Given the description of an element on the screen output the (x, y) to click on. 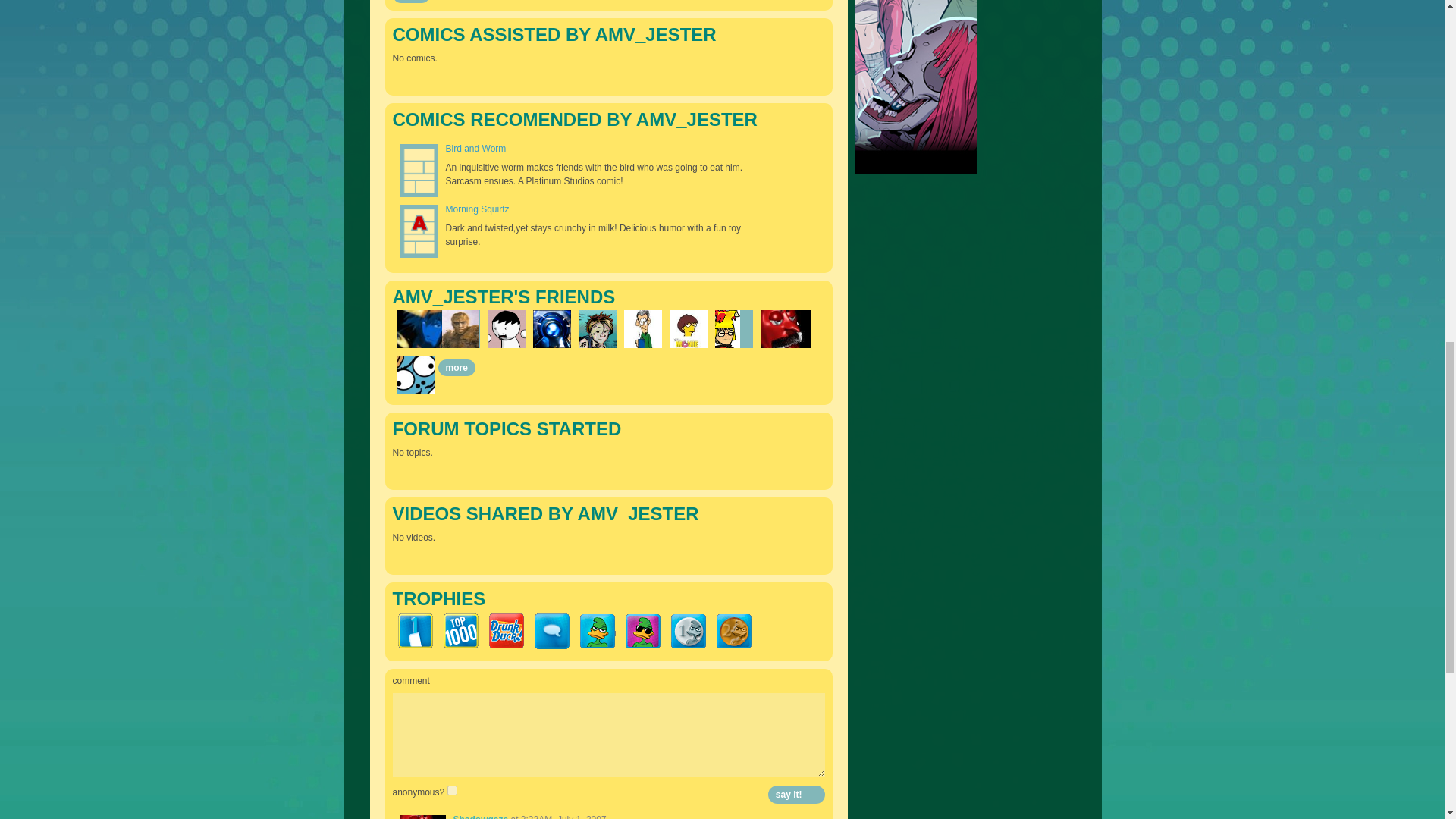
more (411, 1)
Shadowgaze (785, 329)
ponymon (687, 329)
crazyduck (726, 329)
say it! (796, 794)
dgriff13 (596, 329)
Morning Squirtz (477, 208)
Bird and Worm (475, 148)
Demynx (551, 329)
Ersatz (414, 374)
I Hate Dirt (460, 329)
The World of Witt (642, 329)
josif (505, 329)
1 (451, 790)
soulcelshade (430, 329)
